Given the description of an element on the screen output the (x, y) to click on. 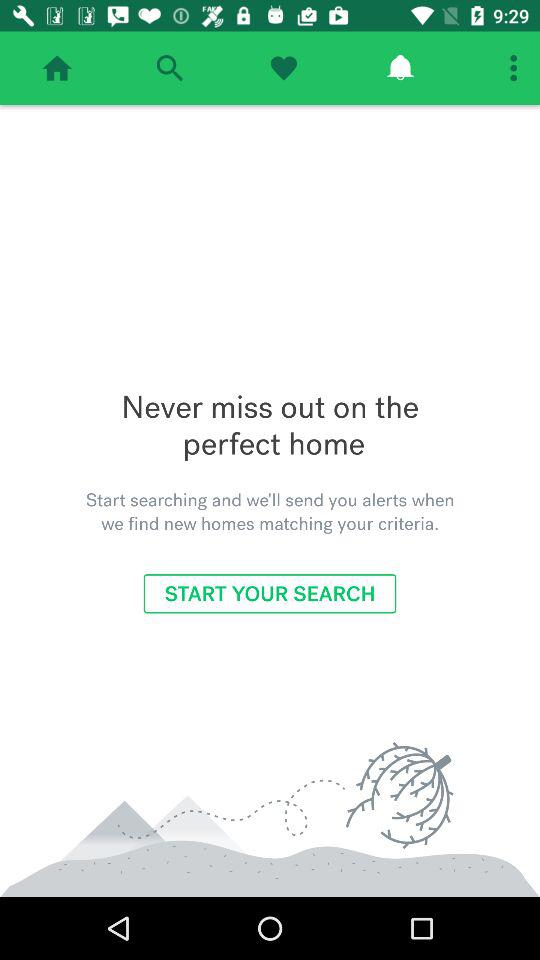
favorite this page (283, 68)
